Given the description of an element on the screen output the (x, y) to click on. 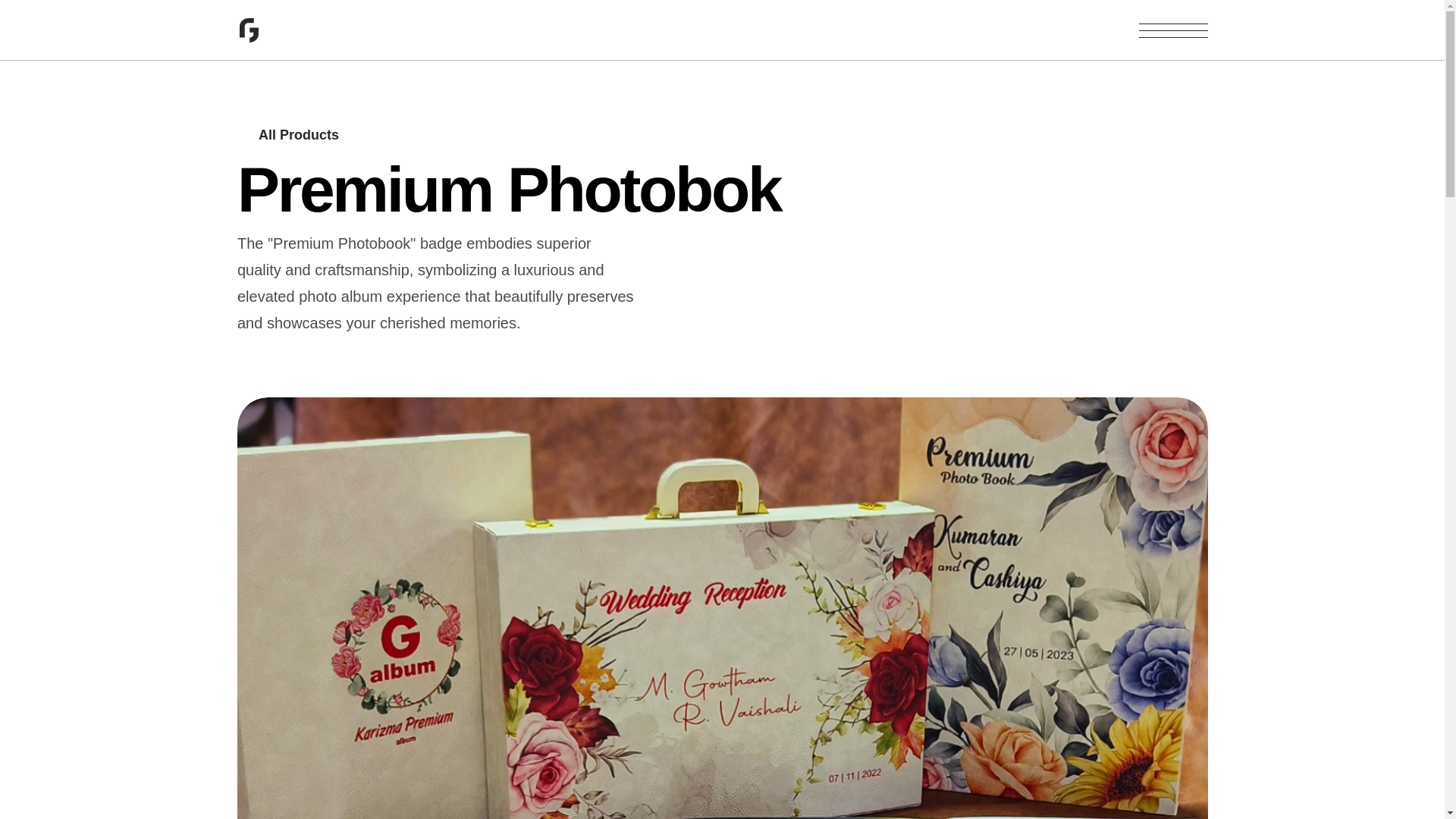
All Products (286, 134)
